Given the description of an element on the screen output the (x, y) to click on. 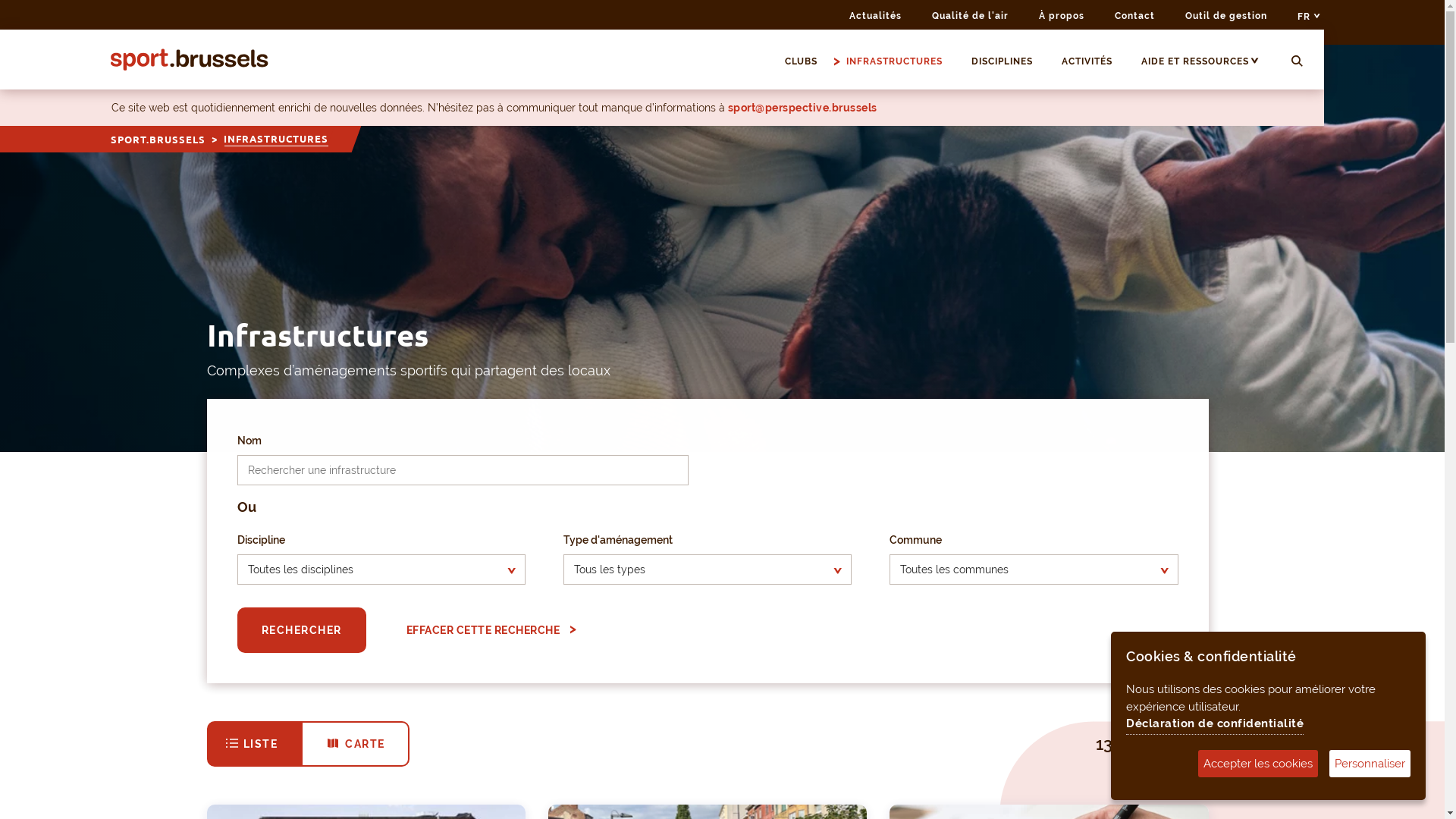
Contact Element type: text (1134, 15)
Rechercher Element type: hover (1297, 61)
Outil de gestion Element type: text (1226, 15)
CARTE Element type: text (355, 743)
DISCIPLINES Element type: text (1008, 60)
sport@perspective.brussels Element type: text (802, 107)
RECHERCHER Element type: text (301, 629)
EFFACER CETTE RECHERCHE Element type: text (487, 630)
SPORT.BRUSSELS Element type: text (157, 139)
Sports de combat - Jujitsu Element type: hover (722, 246)
Accepter les cookies Element type: text (1257, 763)
FR Element type: text (1308, 16)
AIDE ET RESSOURCES Element type: text (1201, 60)
CLUBS Element type: text (807, 60)
Back to homepage Element type: hover (189, 59)
INFRASTRUCTURES Element type: text (900, 60)
Personnaliser Element type: text (1369, 763)
LISTE Element type: text (254, 743)
